Given the description of an element on the screen output the (x, y) to click on. 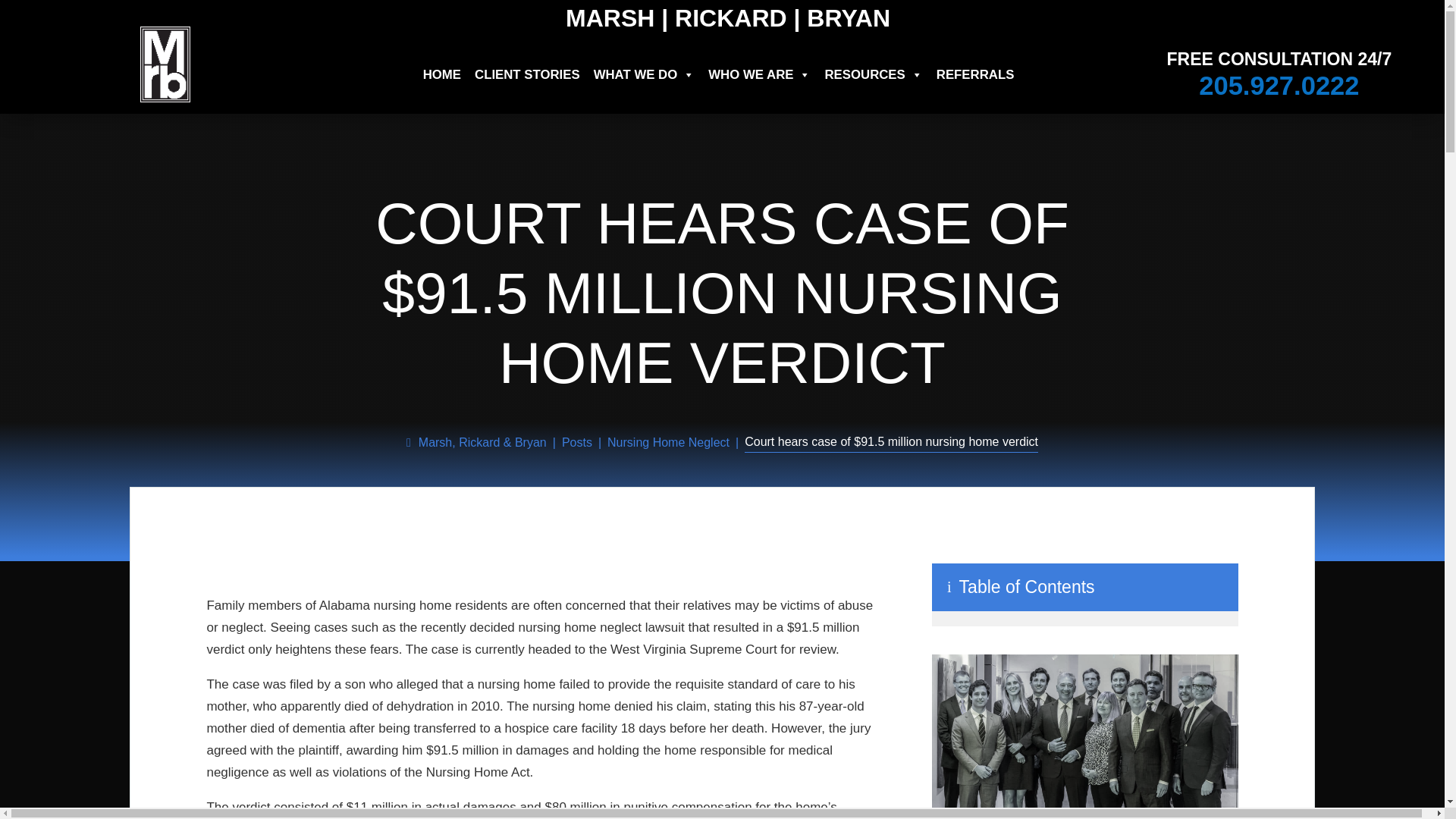
CLIENT STORIES (527, 74)
MarshRickardLogo (164, 64)
HOME (442, 74)
WHAT WE DO (644, 74)
MRB Trial Attorneys in Alabama wrongful death (1084, 736)
